Given the description of an element on the screen output the (x, y) to click on. 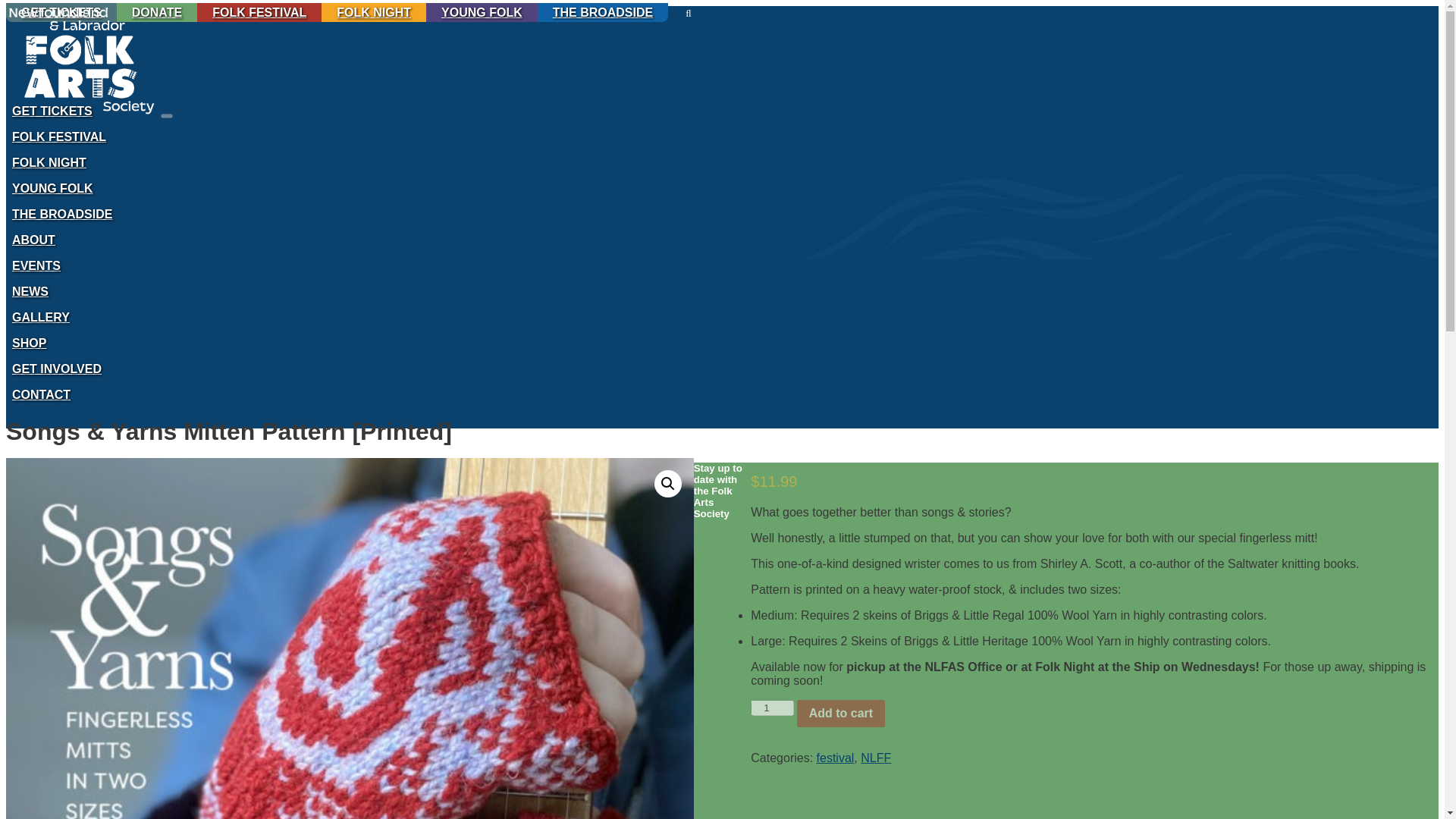
About (33, 239)
Add to cart (840, 713)
Young Folk (52, 187)
GET TICKETS (52, 110)
ABOUT (33, 239)
Get Tickets (52, 110)
Events (35, 265)
FOLK FESTIVAL (258, 12)
YOUNG FOLK (52, 187)
NEWS (30, 291)
SHOP (28, 342)
Folk Night (49, 162)
GALLERY (40, 317)
Get Involved (56, 368)
YOUNG FOLK (481, 12)
